Given the description of an element on the screen output the (x, y) to click on. 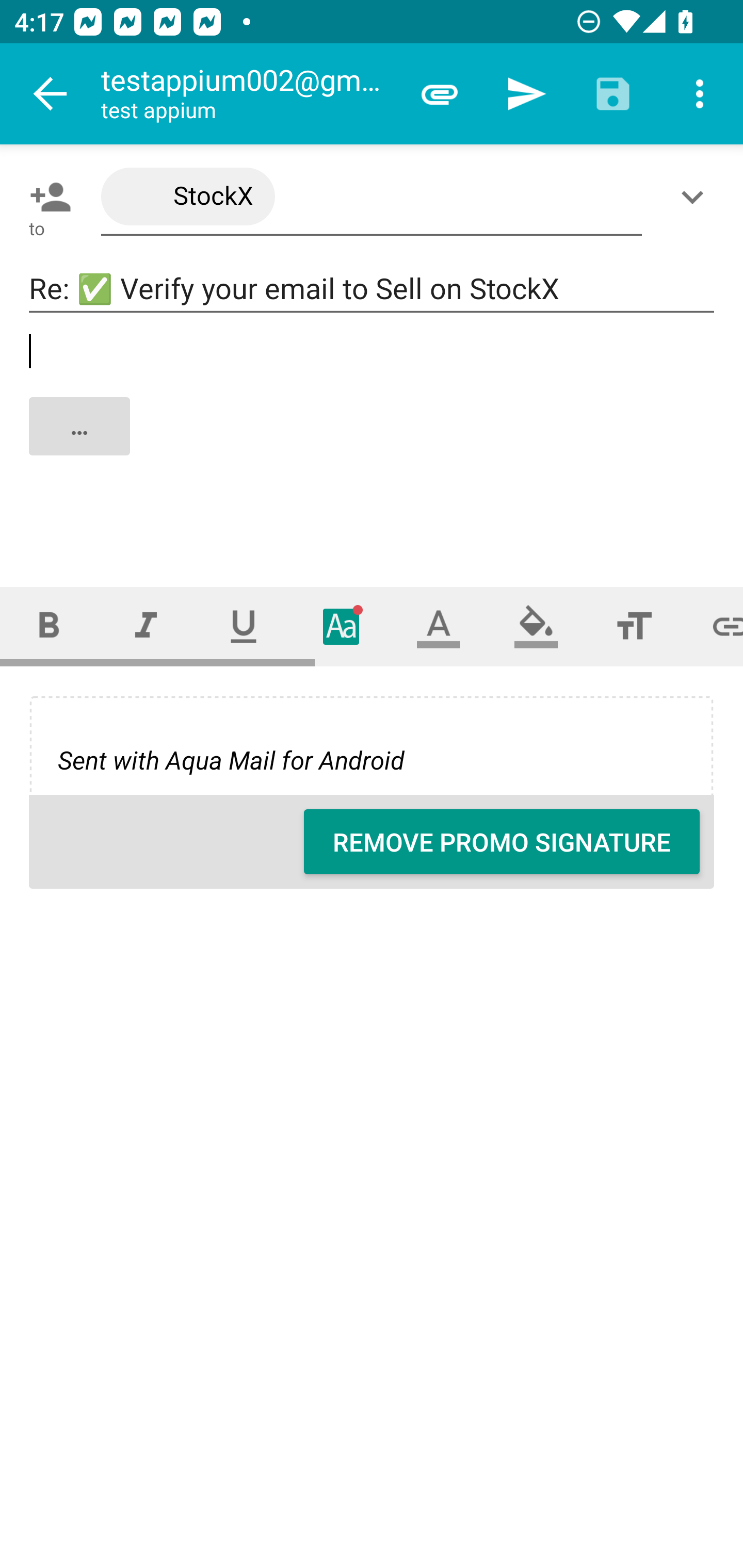
Navigate up (50, 93)
testappium002@gmail.com test appium (248, 93)
Attach (439, 93)
Send (525, 93)
Save (612, 93)
More options (699, 93)
StockX <noreply@stockx.com>,  (371, 197)
Pick contact: To (46, 196)
Show/Add CC/BCC (696, 196)
Re: ✅ Verify your email to Sell on StockX (371, 288)

…
 (372, 442)
Bold (48, 626)
Italic (145, 626)
Underline (243, 626)
Typeface (font) (341, 626)
Text color (438, 626)
Fill color (536, 626)
Font size (633, 626)
REMOVE PROMO SIGNATURE (501, 841)
